Given the description of an element on the screen output the (x, y) to click on. 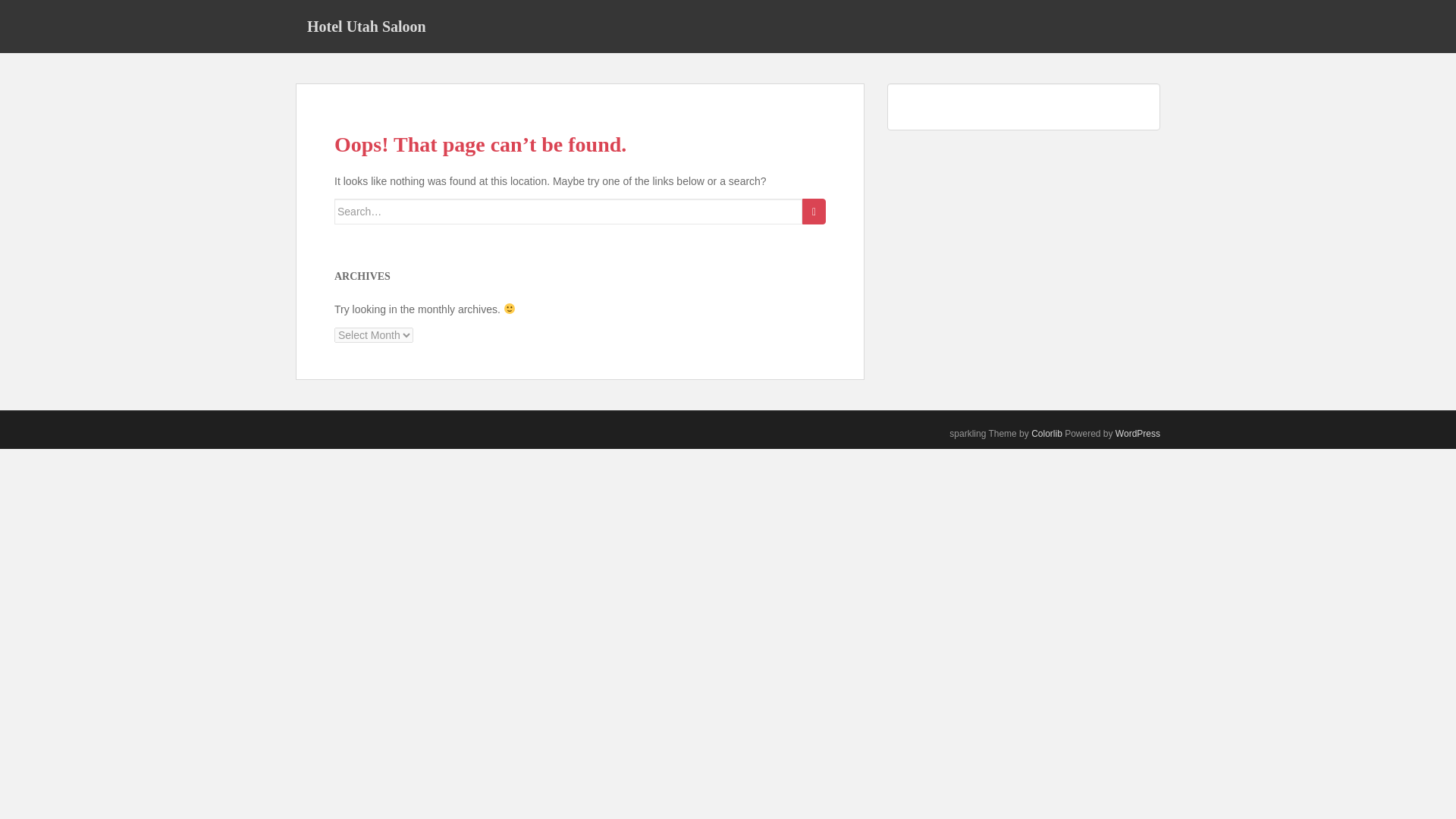
Search (813, 211)
Search for: (568, 211)
WordPress (1137, 433)
Hotel Utah Saloon (366, 26)
Colorlib (1046, 433)
Hotel Utah Saloon (366, 26)
